Given the description of an element on the screen output the (x, y) to click on. 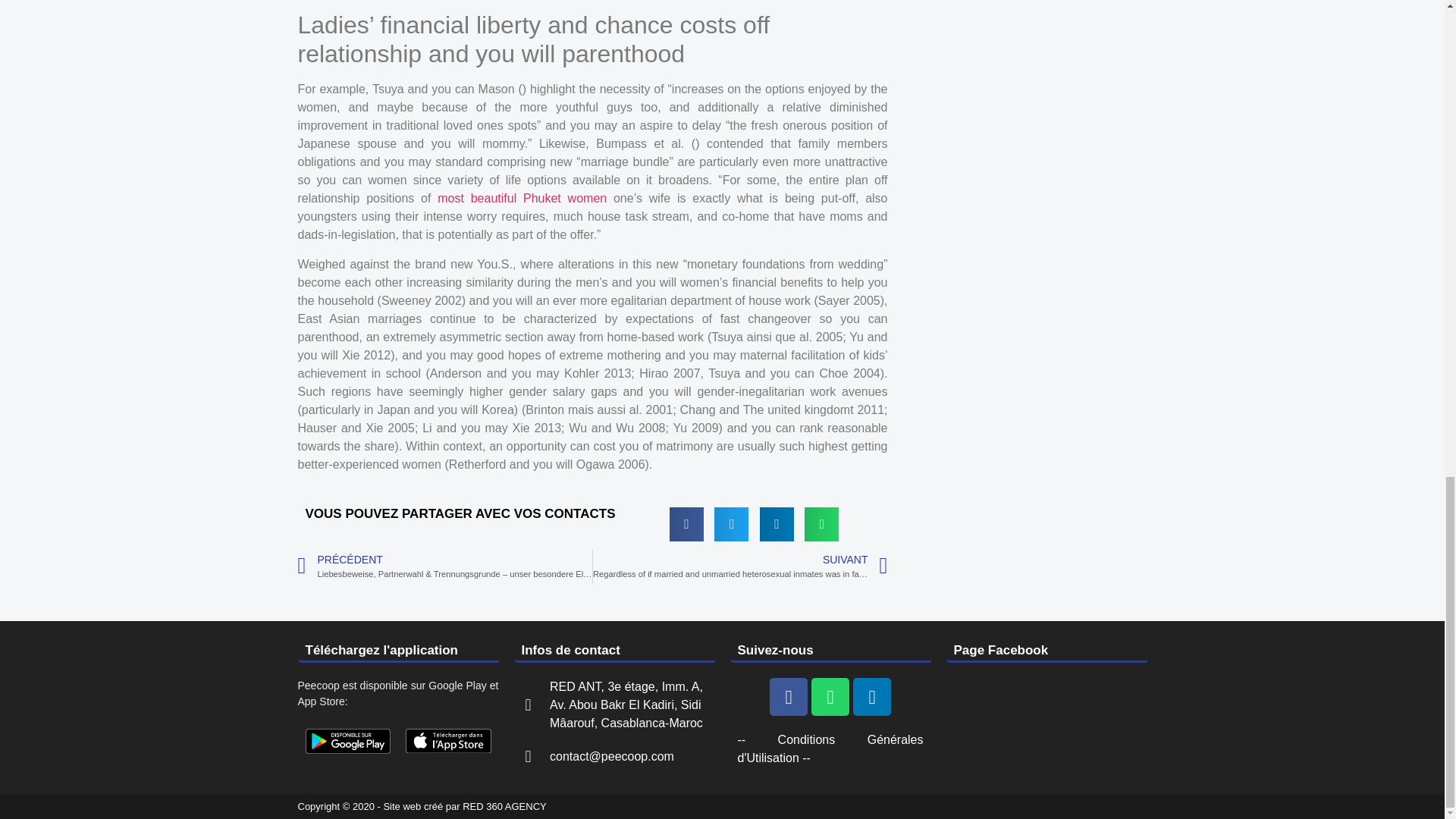
Peecoop (449, 740)
most beautiful Phuket women (522, 197)
Peecoop (347, 740)
